Given the description of an element on the screen output the (x, y) to click on. 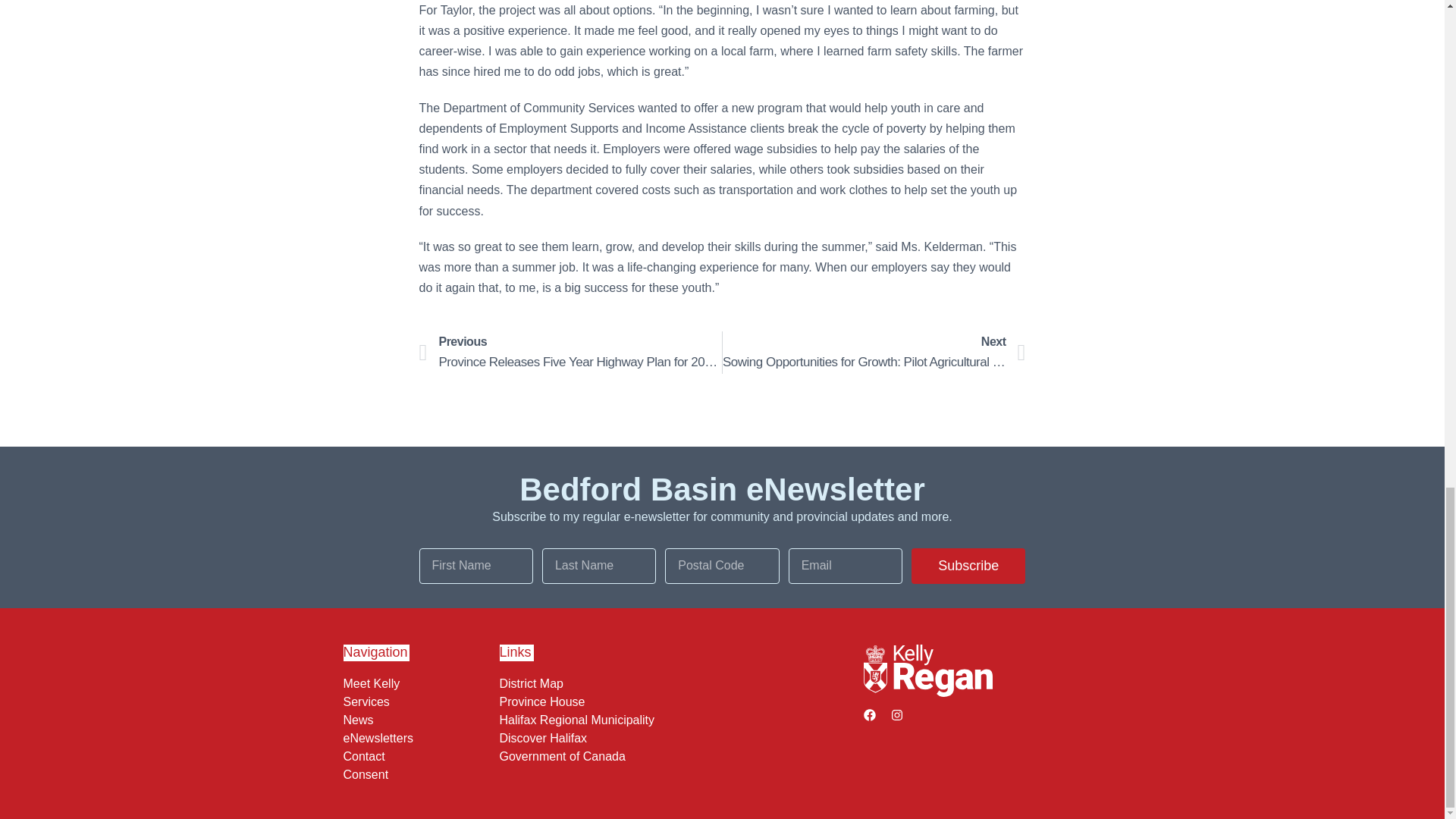
District Map (677, 683)
Meet Kelly (417, 683)
Consent (417, 774)
Subscribe (968, 565)
Discover Halifax (677, 737)
News (417, 719)
Contact (417, 755)
Government of Canada (677, 755)
Services (417, 701)
Halifax Regional Municipality (677, 719)
eNewsletters (417, 737)
Province House (677, 701)
